Given the description of an element on the screen output the (x, y) to click on. 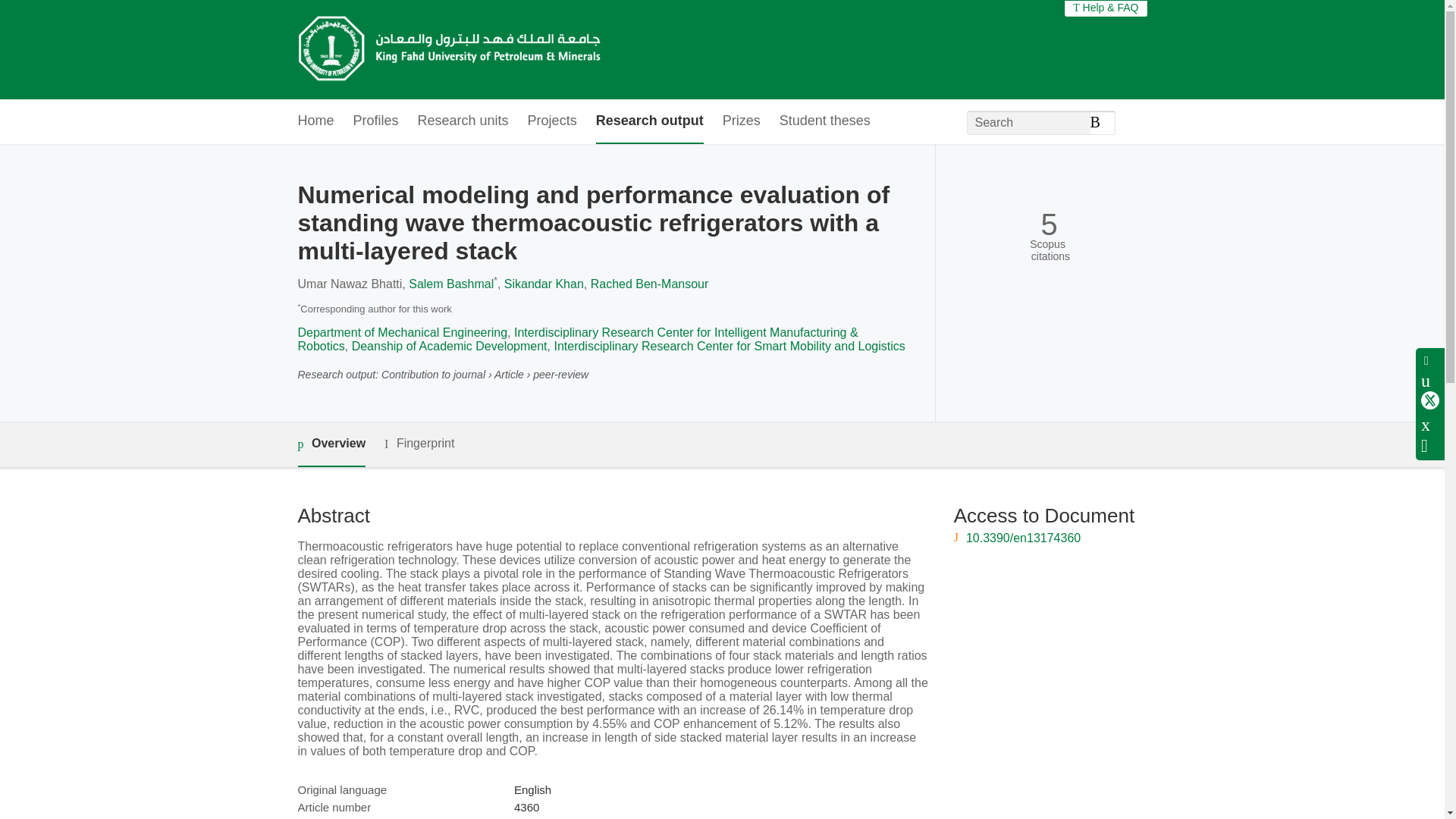
Research units (462, 121)
Deanship of Academic Development (449, 345)
Sikandar Khan (543, 283)
Overview (331, 444)
Research output (649, 121)
Rached Ben-Mansour (650, 283)
Energies (536, 818)
Profiles (375, 121)
Fingerprint (419, 444)
